Given the description of an element on the screen output the (x, y) to click on. 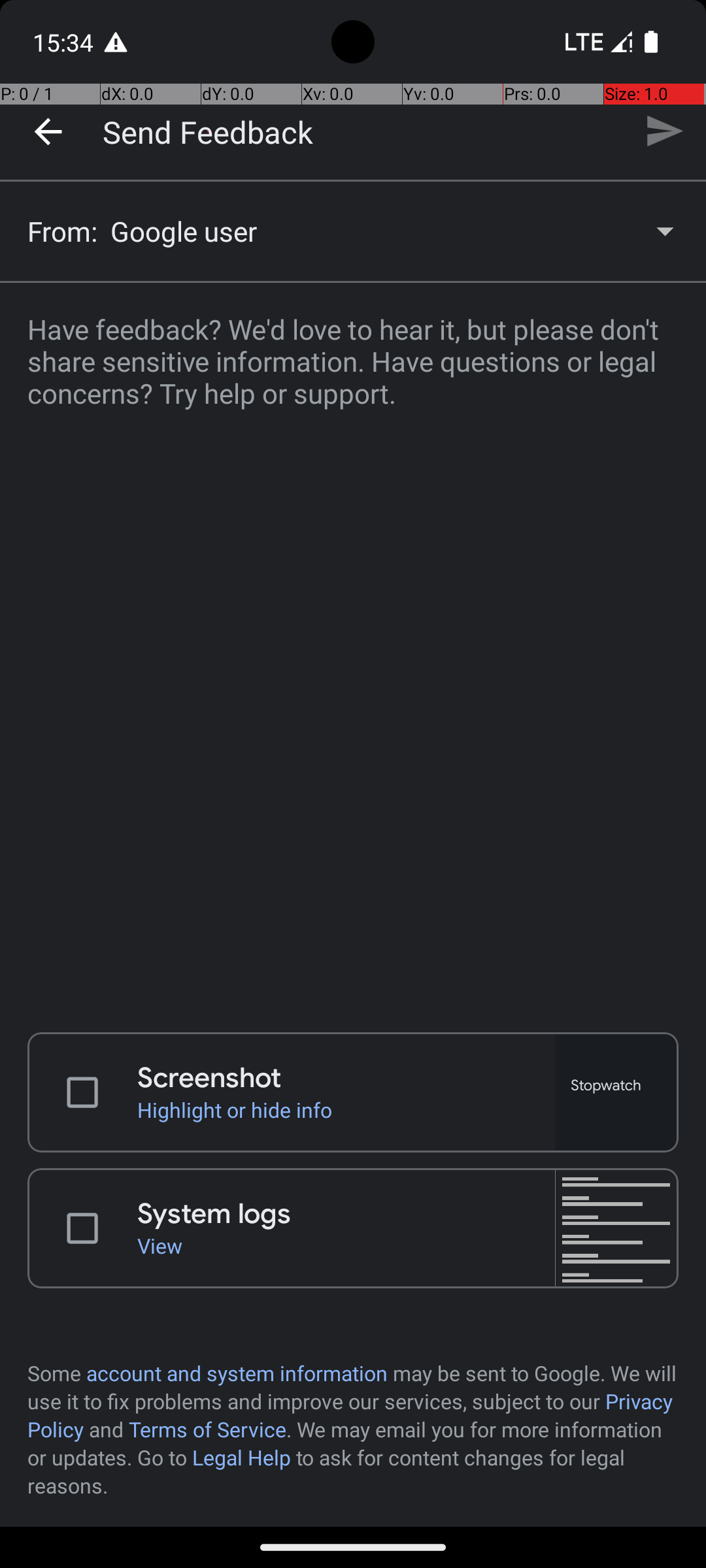
Send Feedback Element type: android.widget.TextView (207, 131)
Send Element type: android.widget.Button (664, 131)
Have feedback? We'd love to hear it, but please don't share sensitive information. Have questions or legal concerns? Try help or support. Element type: android.widget.EditText (353, 649)
Some account and system information may be sent to Google. We will use it to fix problems and improve our services, subject to our Privacy Policy and Terms of Service. We may email you for more information or updates. Go to Legal Help to ask for content changes for legal reasons. Element type: android.widget.TextView (352, 1428)
From:  Google user Element type: android.widget.TextView (352, 230)
Screenshot Element type: android.widget.TextView (345, 1077)
Highlight or hide info Element type: android.widget.TextView (345, 1109)
System logs Element type: android.widget.TextView (345, 1213)
View Element type: android.widget.TextView (345, 1245)
